Given the description of an element on the screen output the (x, y) to click on. 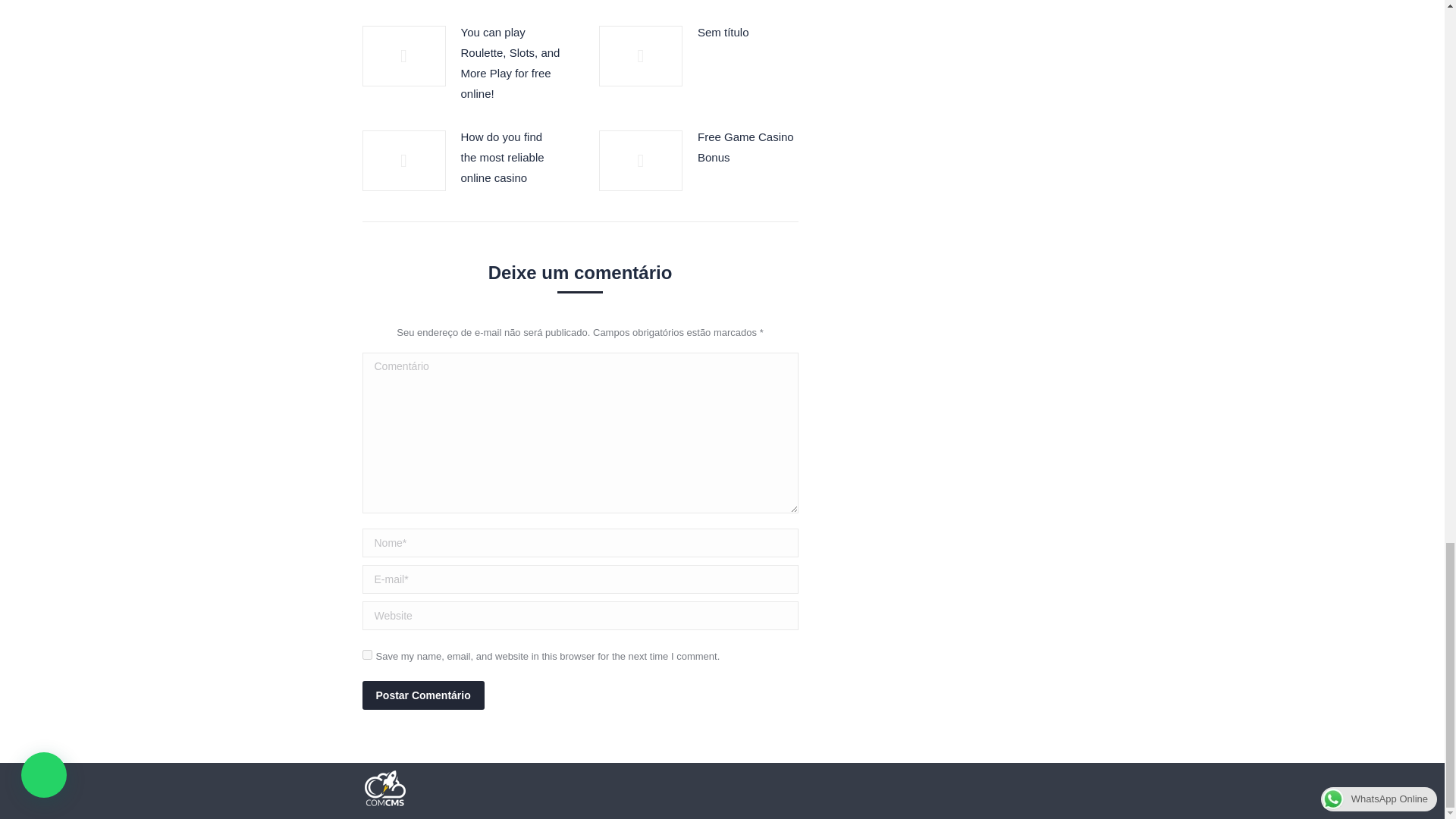
You can play Roulette, Slots, and More Play for free online! (511, 63)
yes (367, 655)
